Given the description of an element on the screen output the (x, y) to click on. 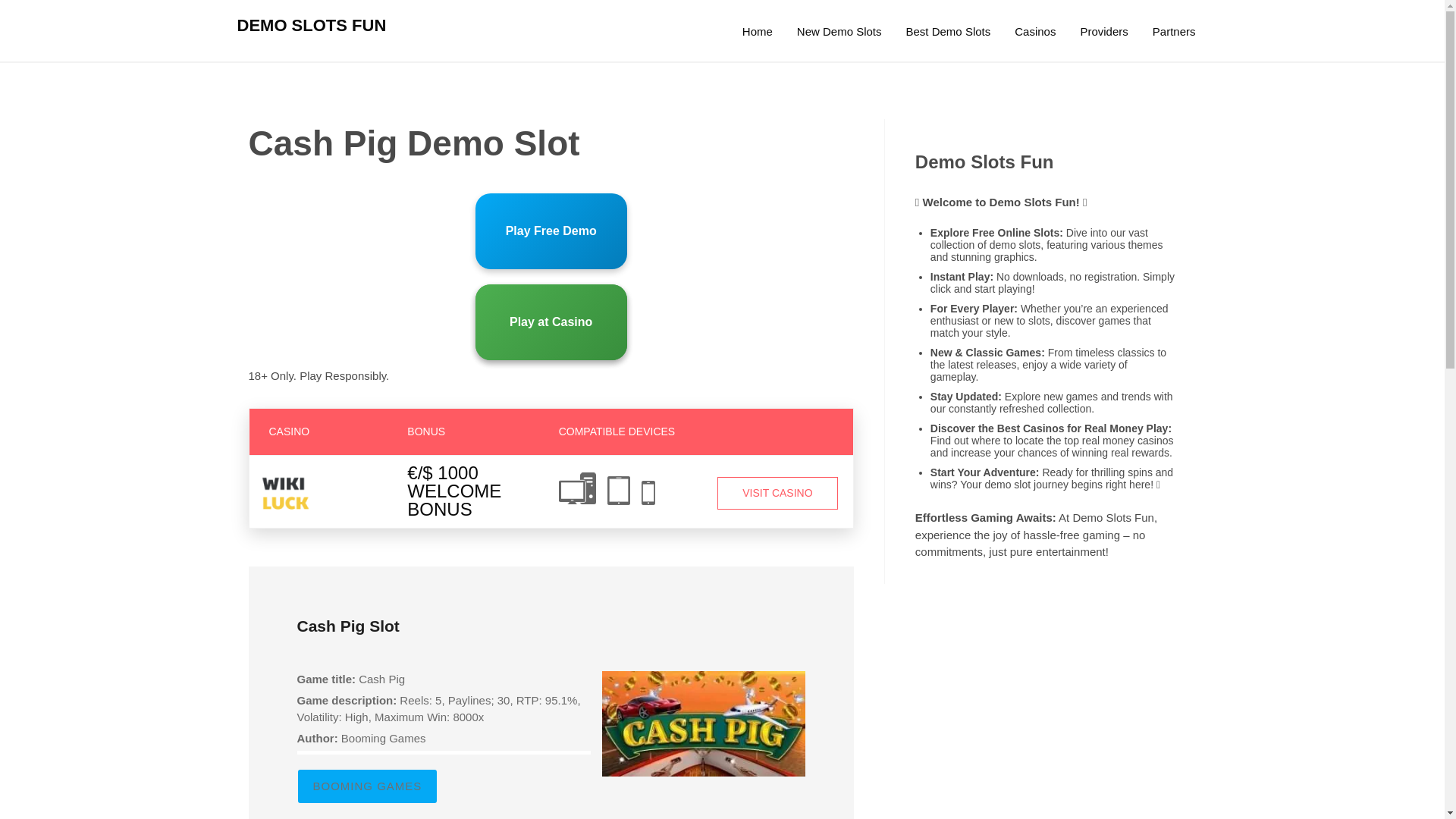
New Demo Slots (838, 31)
Play at Casino (551, 322)
Demo Slots Fun (757, 31)
New Demo Slots (838, 31)
Casinos (1035, 31)
Casinos (1035, 31)
Home (757, 31)
Slots Providers (1103, 31)
Play Free Demo (551, 231)
BOOMING GAMES (366, 786)
VISIT CASINO (777, 492)
DEMO SLOTS FUN (310, 25)
Providers (1103, 31)
Best Demo Slots (948, 31)
Partners (1174, 31)
